Given the description of an element on the screen output the (x, y) to click on. 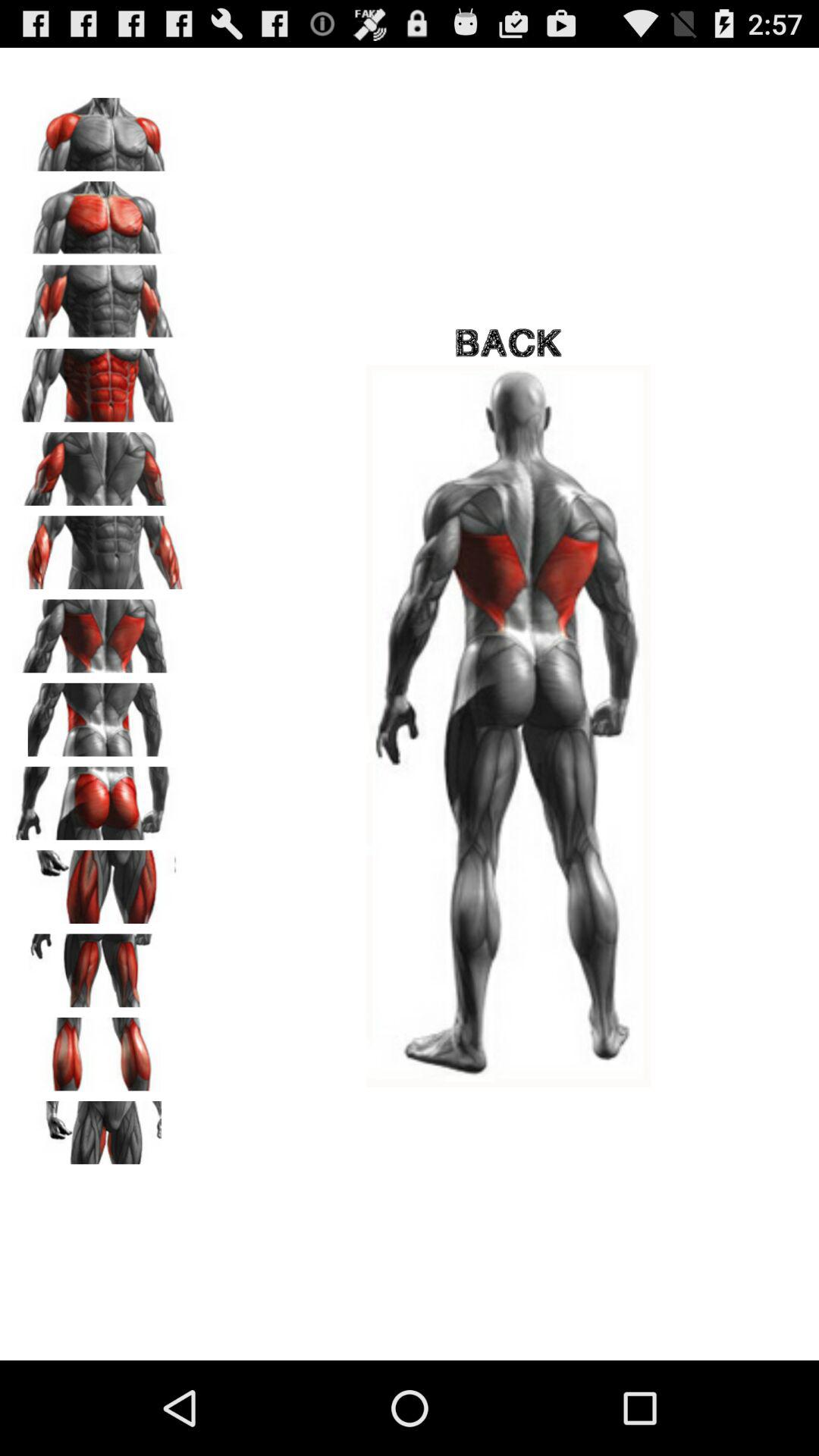
view human buttock muscle anatomy (99, 798)
